Given the description of an element on the screen output the (x, y) to click on. 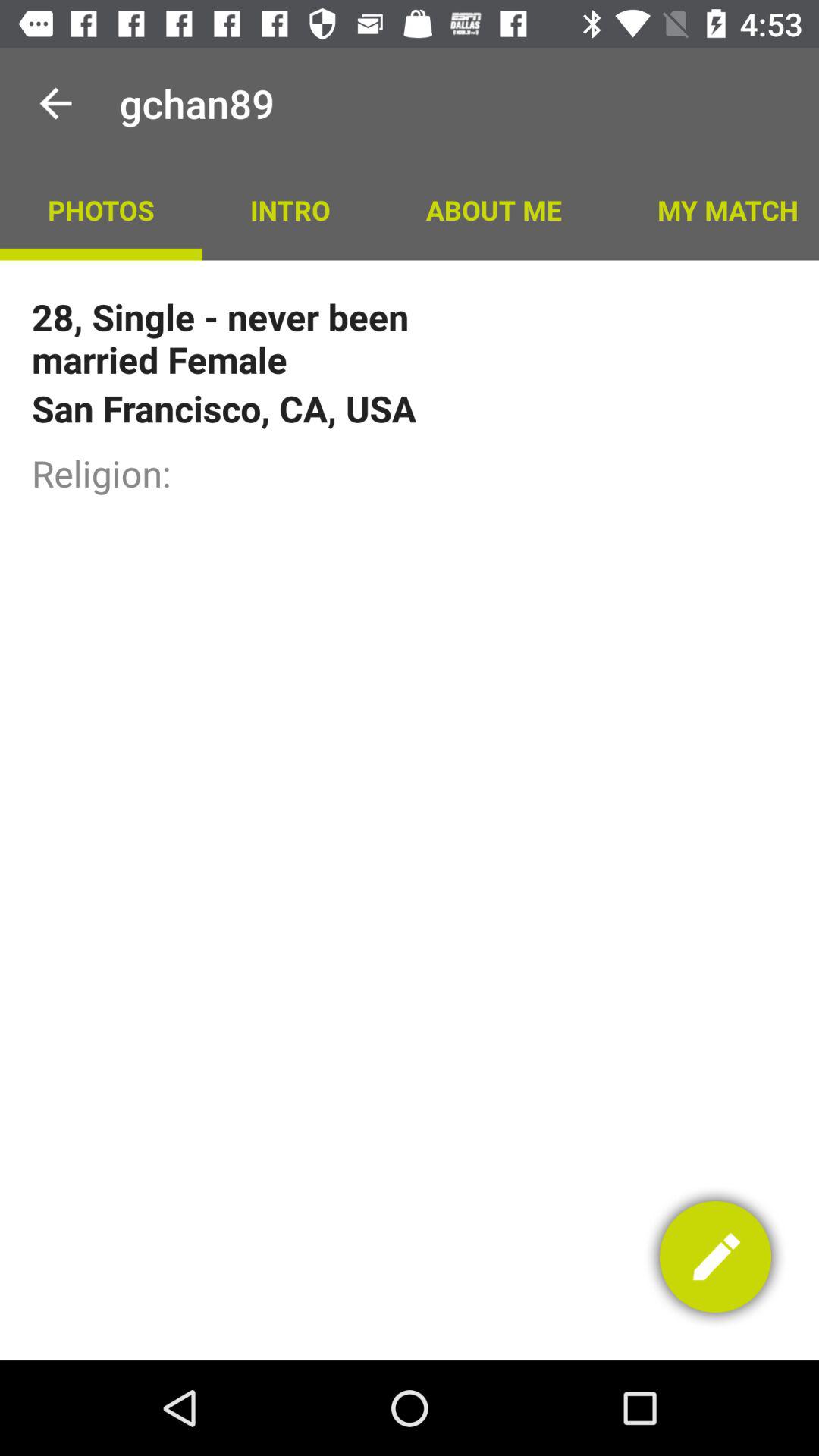
press the item above 28 single never item (101, 209)
